Given the description of an element on the screen output the (x, y) to click on. 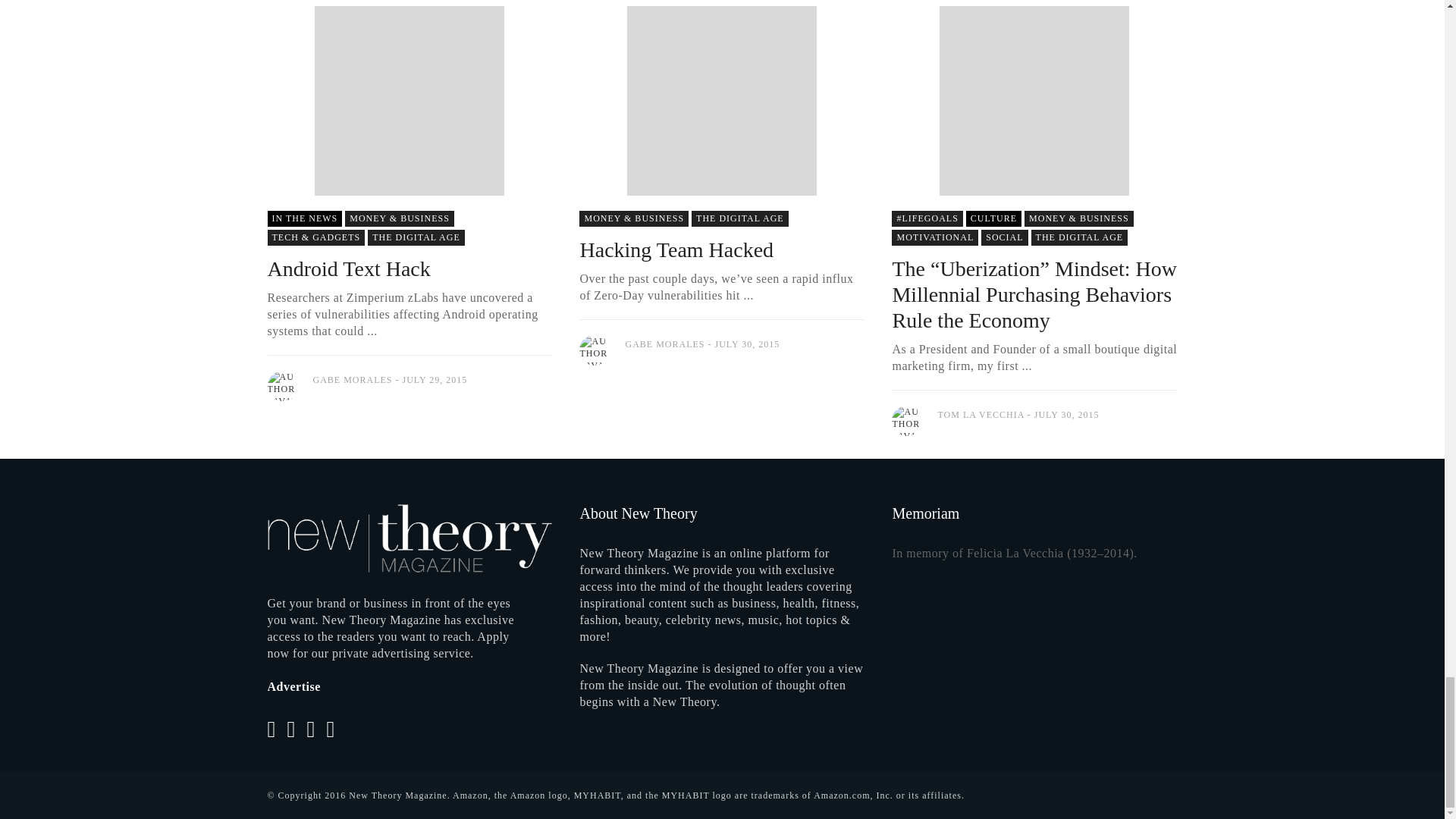
View all posts in 143 (926, 218)
View all posts in 158 (994, 218)
View all posts in 152 (740, 218)
View all posts in 152 (416, 237)
View all posts in 144 (399, 218)
View all posts in 155 (315, 237)
View all posts in 153 (304, 218)
View all posts in 154 (934, 237)
View all posts in 144 (1079, 218)
View all posts in 152 (1079, 237)
